Given the description of an element on the screen output the (x, y) to click on. 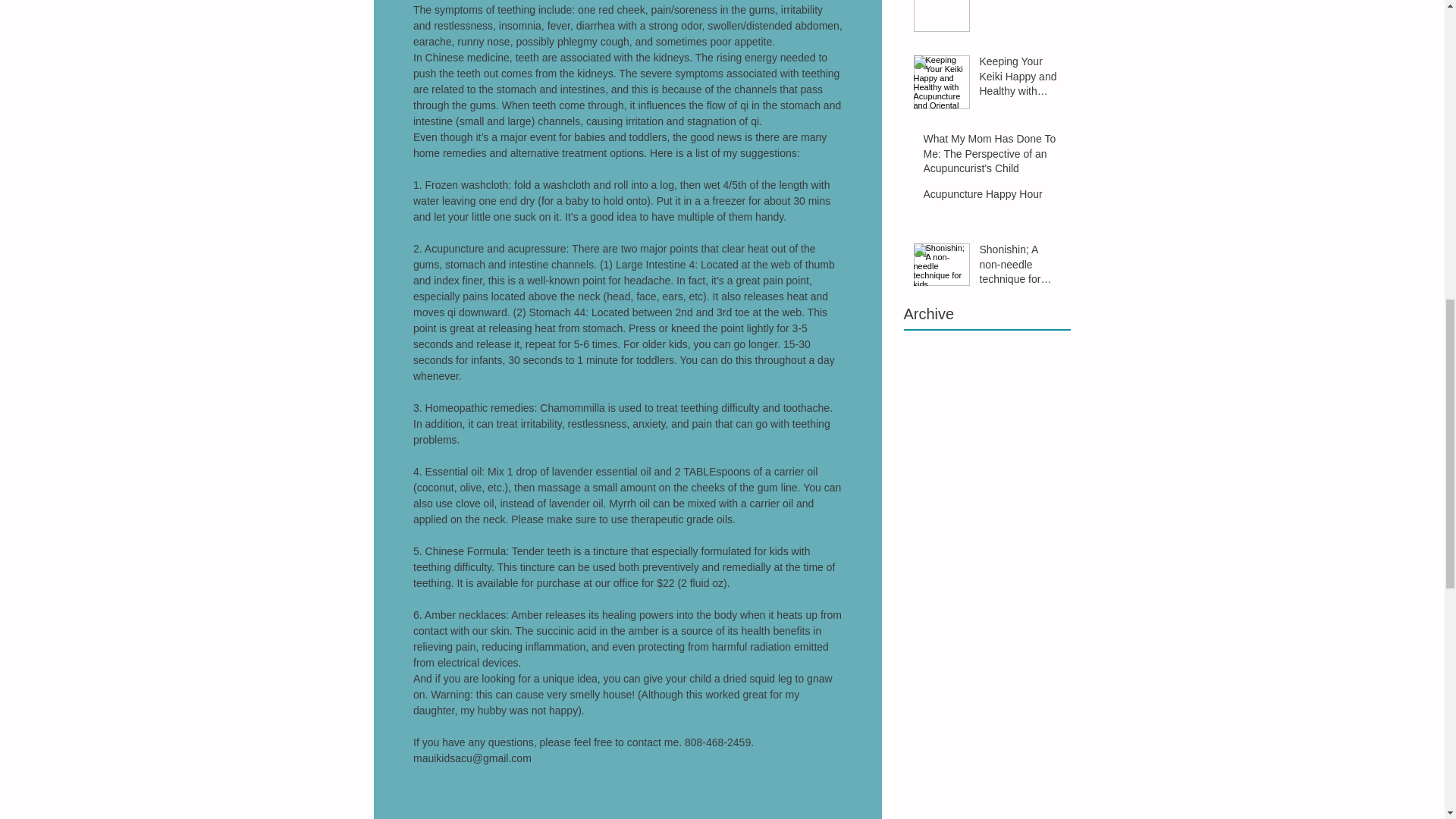
Shonishin; A non-needle technique for kids (1020, 267)
Acupuncture Happy Hour (992, 197)
